Given the description of an element on the screen output the (x, y) to click on. 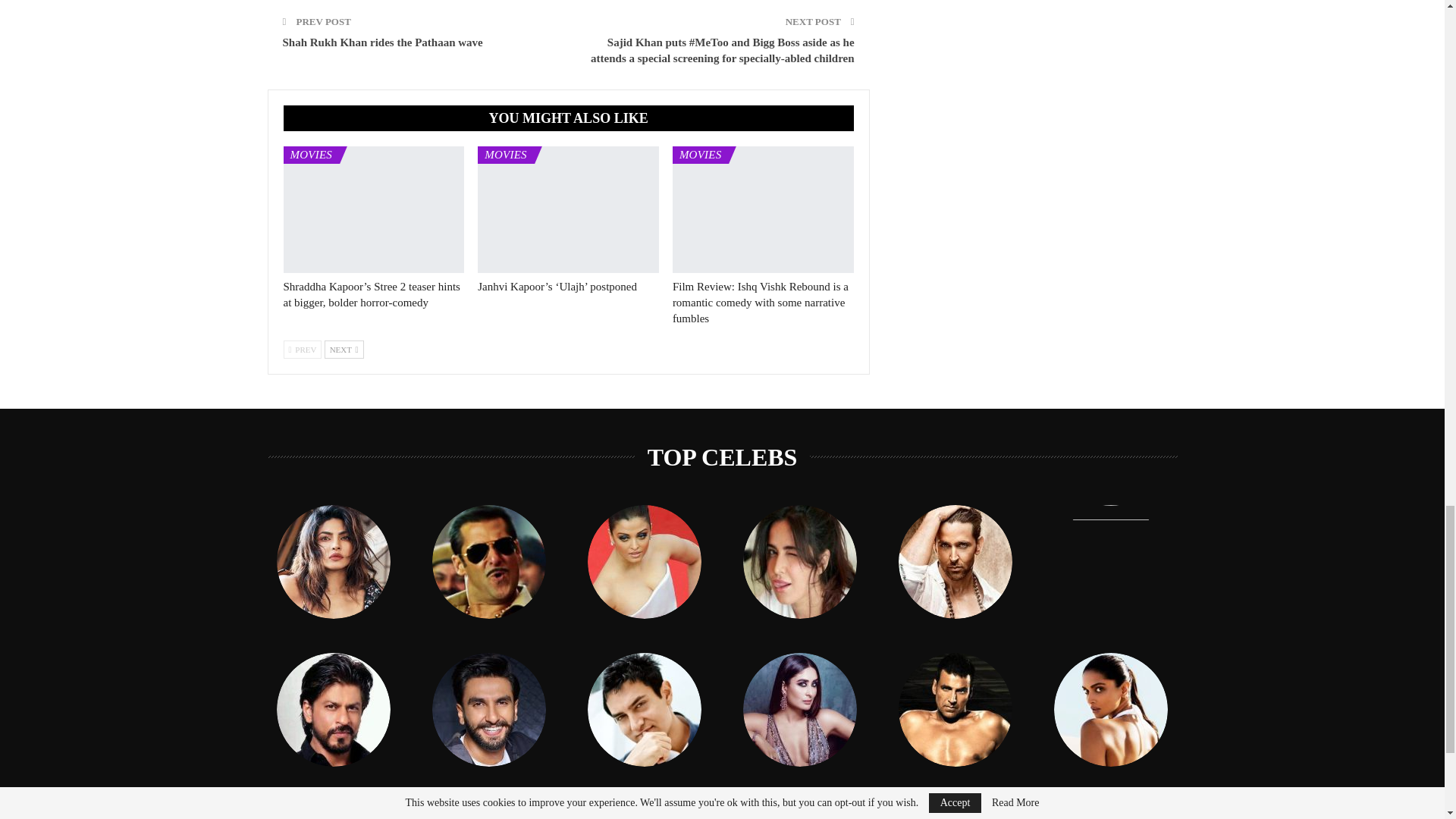
Next (344, 349)
Previous (302, 349)
